Given the description of an element on the screen output the (x, y) to click on. 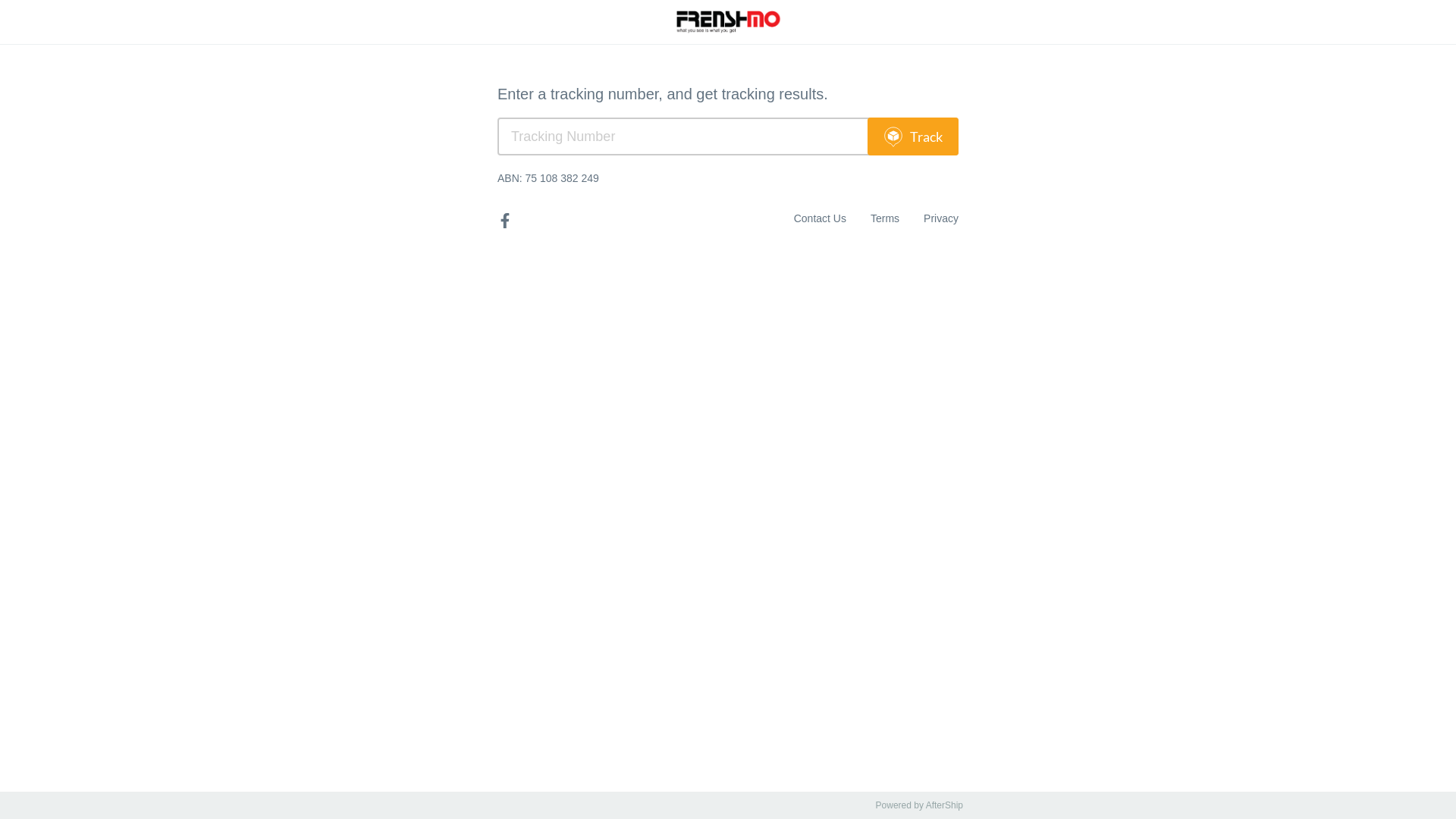
Track Element type: text (912, 136)
Contact Us Element type: text (819, 218)
Privacy Element type: text (940, 218)
Powered by AfterShip Element type: text (919, 805)
Terms Element type: text (884, 218)
